Given the description of an element on the screen output the (x, y) to click on. 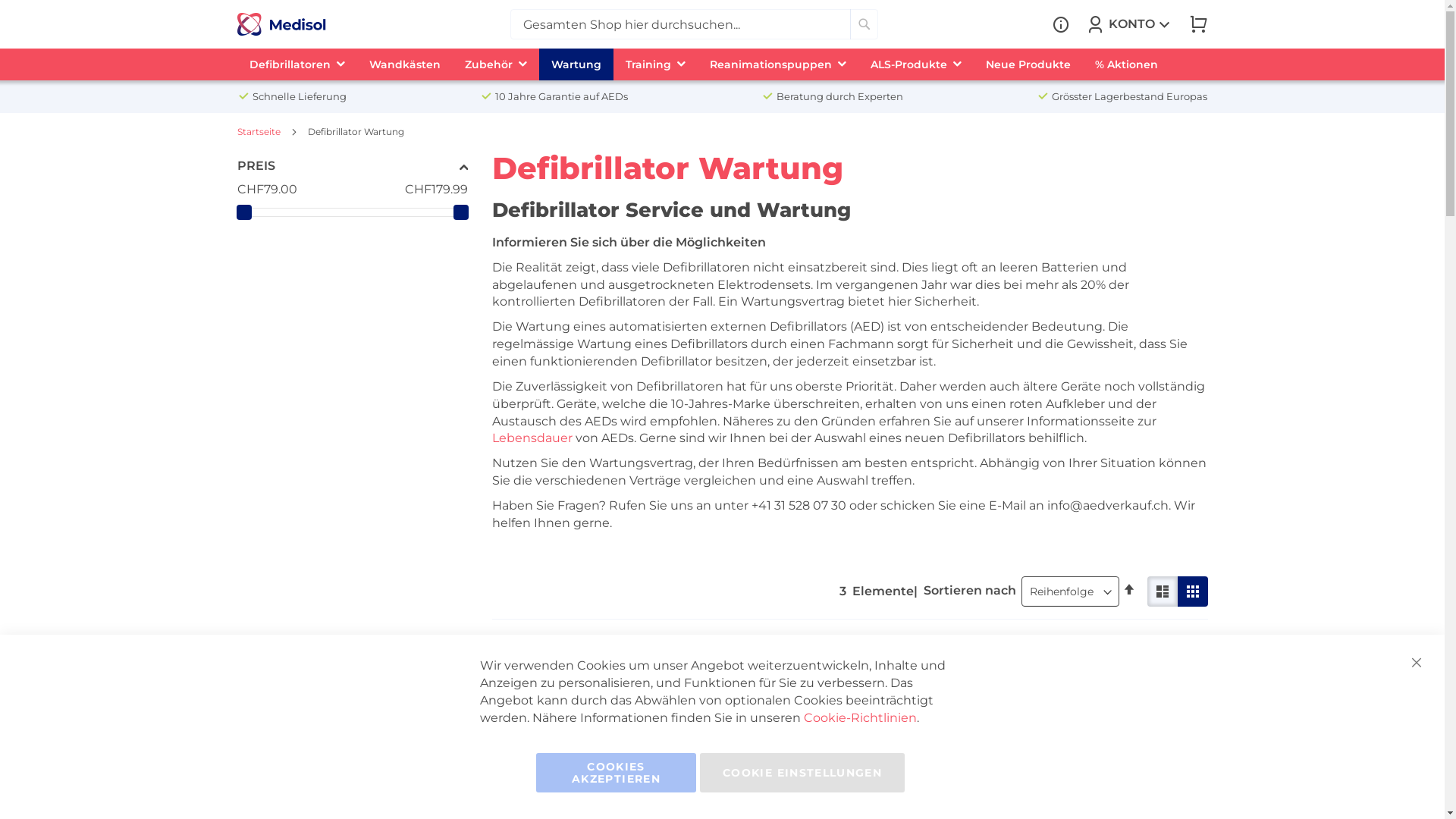
Suche Element type: text (864, 24)
Medisol International Element type: hover (280, 23)
Defibrillatoren Element type: text (296, 64)
Training Element type: text (654, 64)
Reanimationspuppen Element type: text (777, 64)
In den Warenkorb Element type: text (1112, 710)
Wartung Element type: text (575, 64)
Liste Element type: text (1191, 591)
COOKIE EINSTELLUNGEN Element type: text (801, 772)
% Aktionen Element type: text (1126, 64)
Startseite Element type: text (259, 131)
COOKIES AKZEPTIEREN Element type: text (616, 772)
Neue Produkte Element type: text (1027, 64)
KONTO Element type: text (1129, 24)
Defibrillator Wartung Silver Element type: text (764, 665)
Lebensdauer Element type: text (531, 437)
Schliessen Element type: text (1416, 662)
Cookie-Richtlinien Element type: text (859, 716)
Absteigend sortieren Element type: text (1128, 589)
ALS-Produkte Element type: text (915, 64)
